Given the description of an element on the screen output the (x, y) to click on. 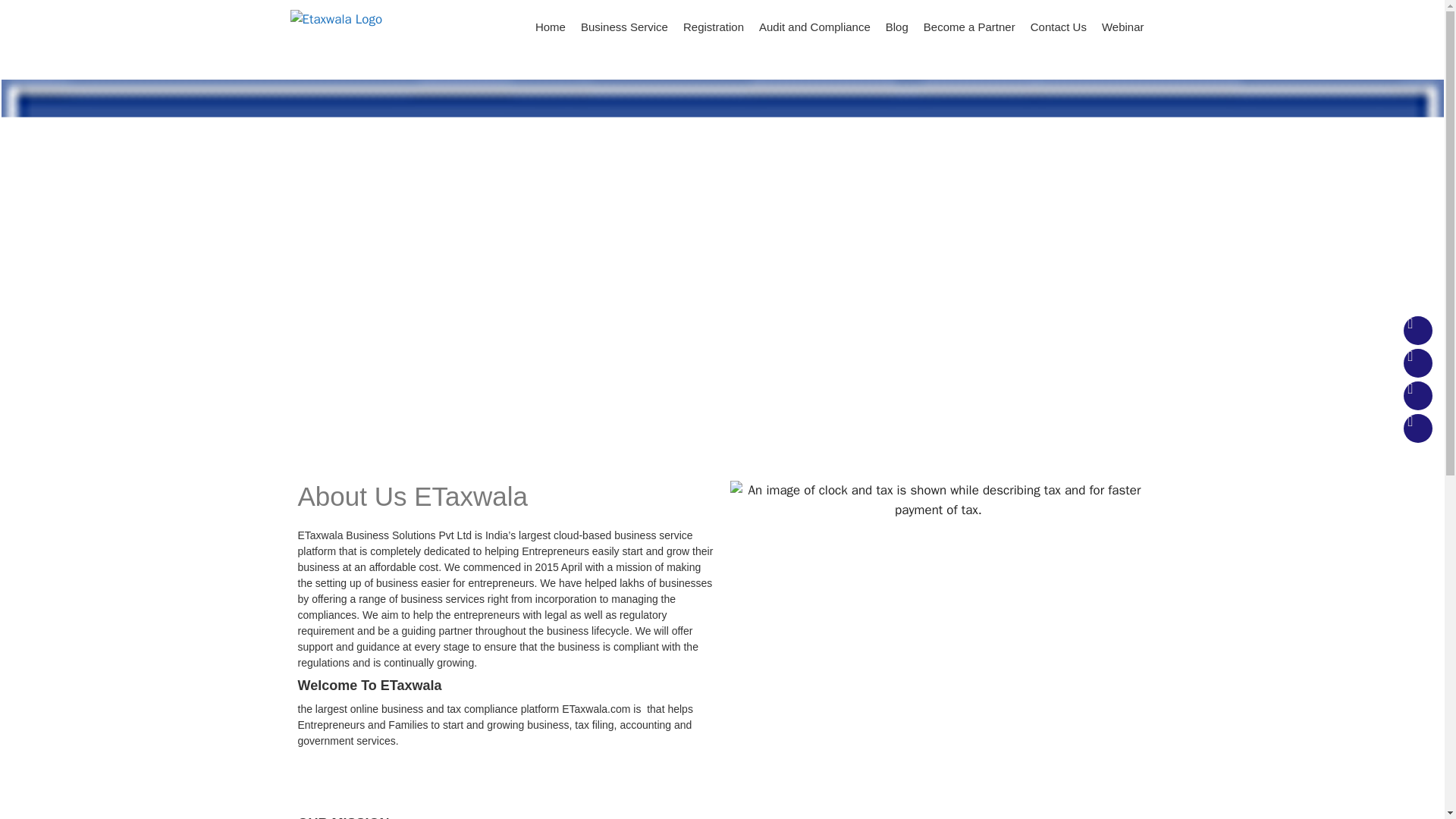
Webinar (1122, 27)
Business Service (624, 27)
Audit and Compliance (814, 27)
Contact Us (1058, 27)
Home (550, 27)
Blog (896, 27)
Registration (713, 27)
Become a Partner (969, 27)
www.etaxwala.com (335, 19)
